Given the description of an element on the screen output the (x, y) to click on. 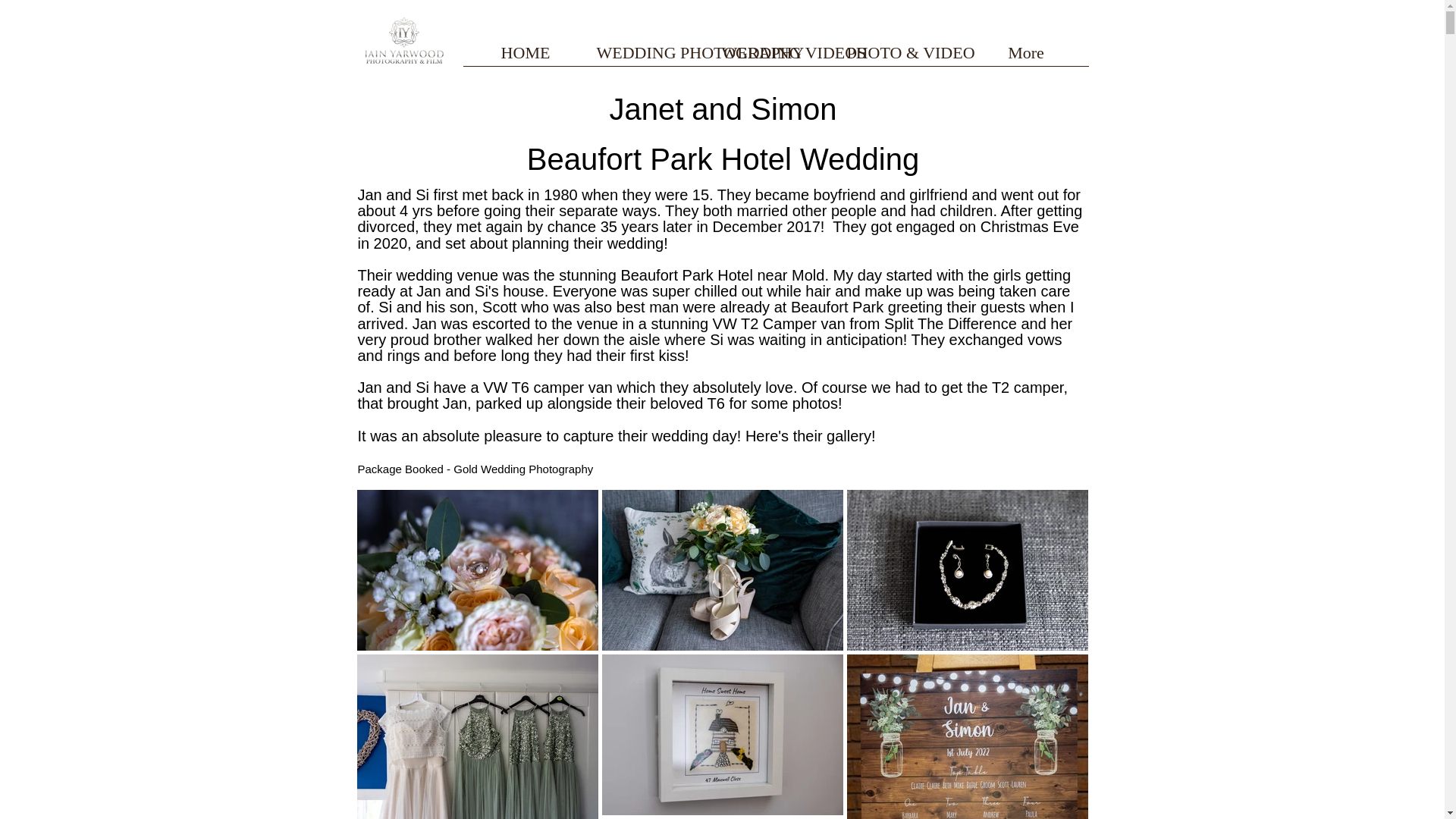
HOME (525, 58)
